Given the description of an element on the screen output the (x, y) to click on. 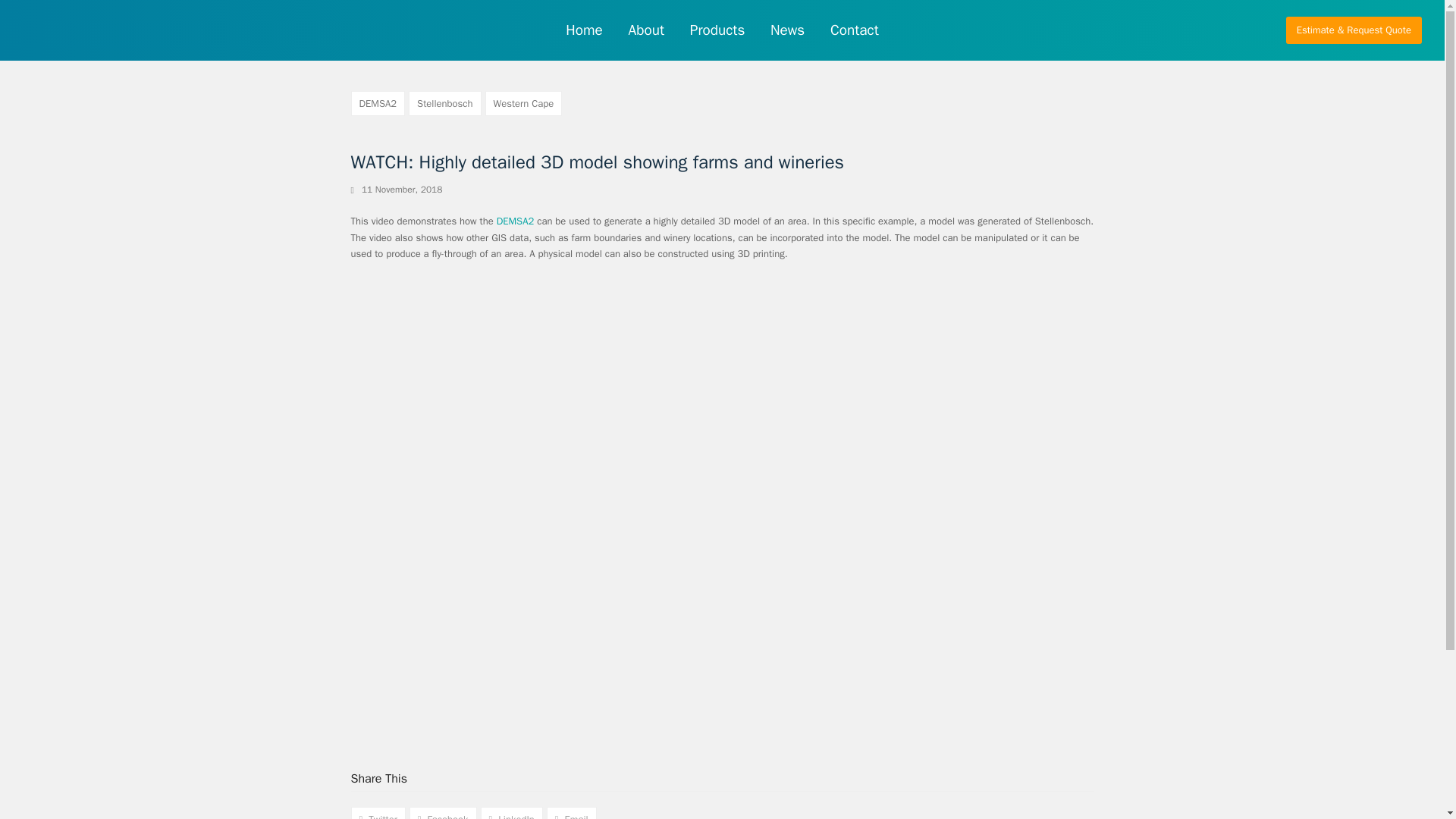
DEMSA2 (515, 220)
Home (583, 29)
Twitter (377, 812)
About (646, 29)
News (786, 29)
LinkedIn (511, 812)
Stellenbosch (444, 103)
Facebook (443, 812)
Western Cape (523, 103)
DEMSA2 (377, 103)
Email (571, 812)
Products (717, 29)
Contact (853, 29)
